Given the description of an element on the screen output the (x, y) to click on. 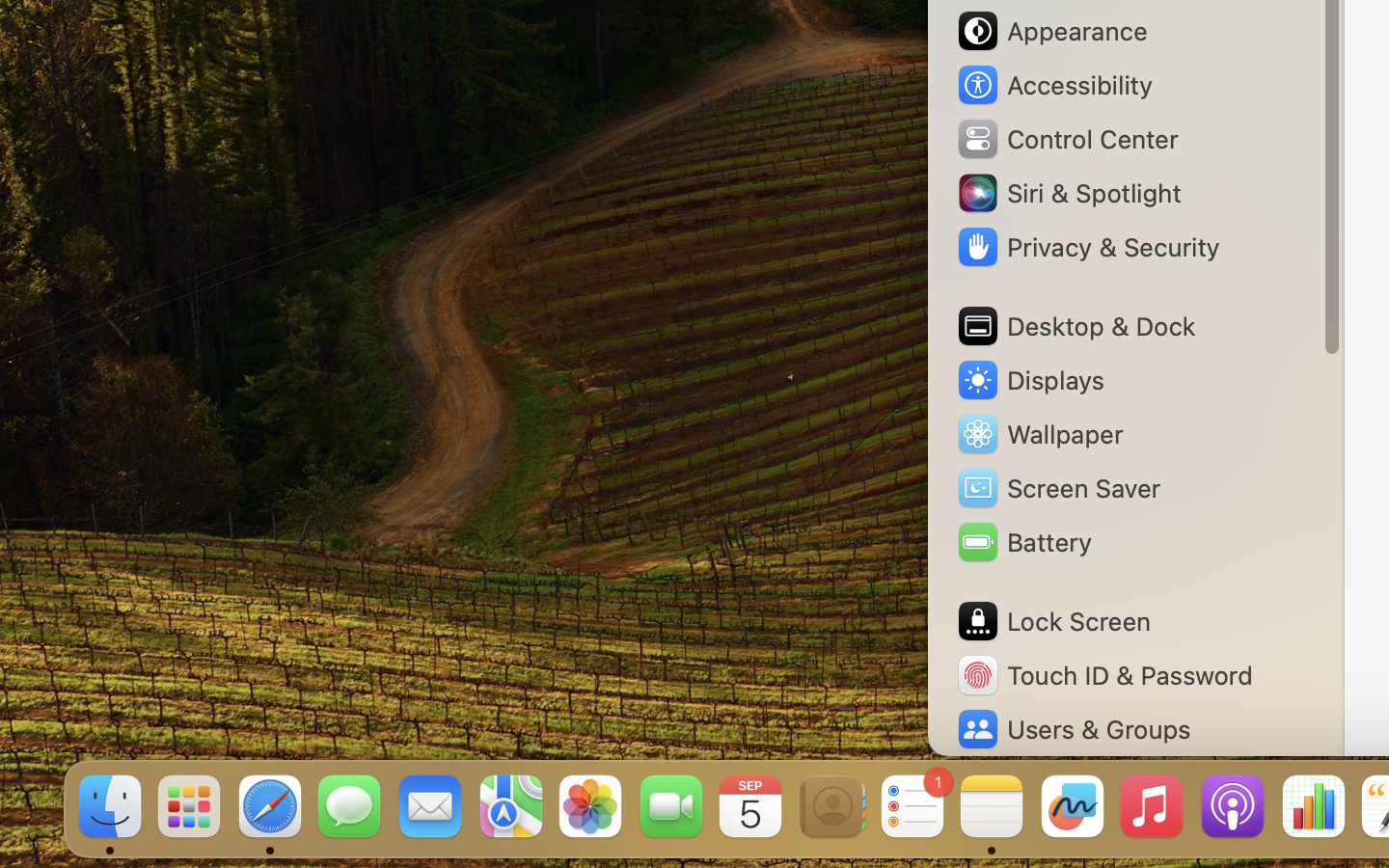
Accessibility Element type: AXStaticText (1053, 84)
Privacy & Security Element type: AXStaticText (1086, 246)
Users & Groups Element type: AXStaticText (1072, 728)
Control Center Element type: AXStaticText (1066, 138)
Siri & Spotlight Element type: AXStaticText (1067, 192)
